Given the description of an element on the screen output the (x, y) to click on. 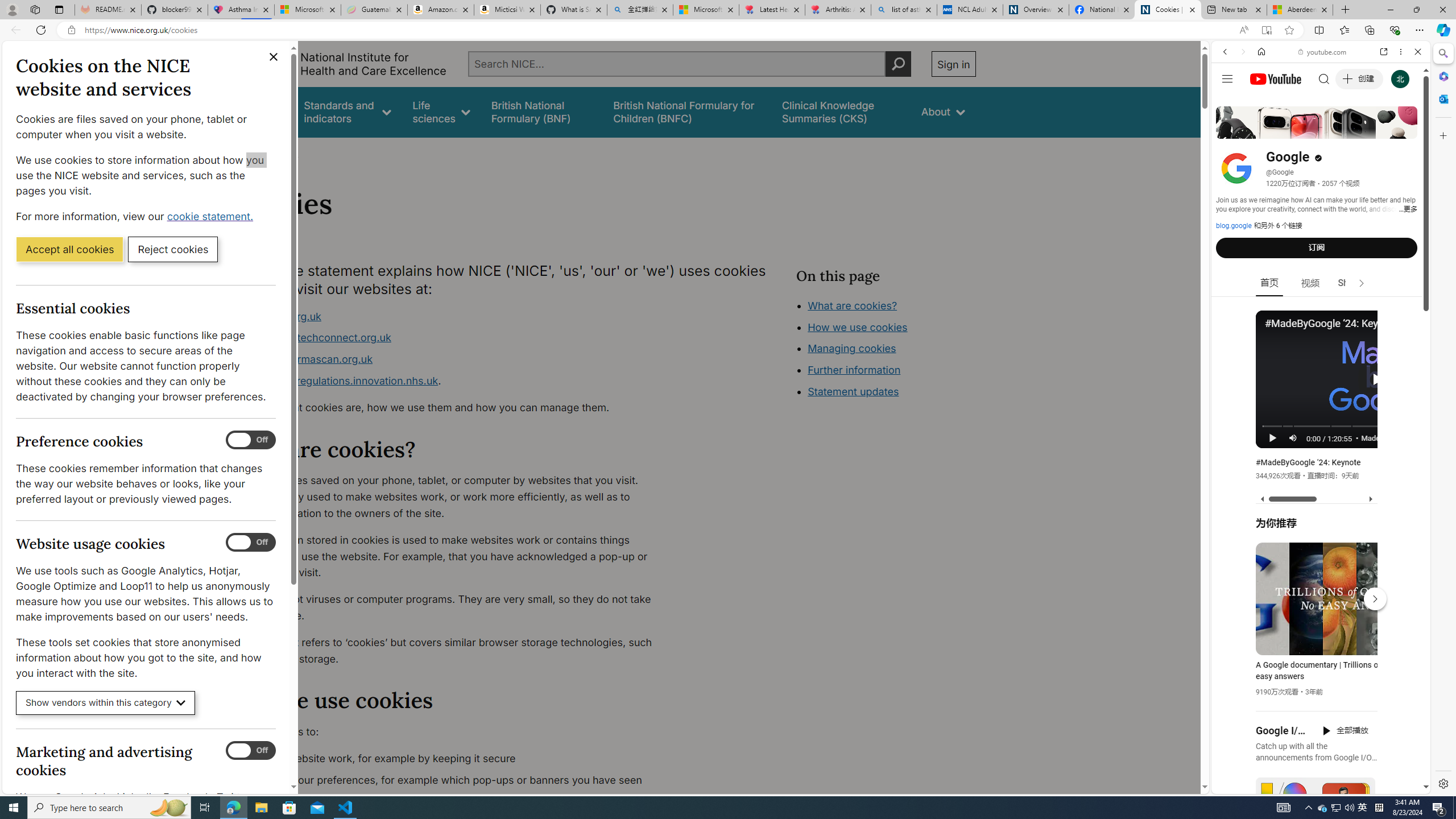
Home (241, 152)
www.digitalregulations.innovation.nhs.uk (338, 380)
www.healthtechconnect.org.uk (452, 338)
Web scope (1230, 102)
list of asthma inhalers uk - Search (904, 9)
www.digitalregulations.innovation.nhs.uk. (452, 380)
Click to scroll right (1407, 456)
How we use cookies (896, 389)
Life sciences (440, 111)
